Given the description of an element on the screen output the (x, y) to click on. 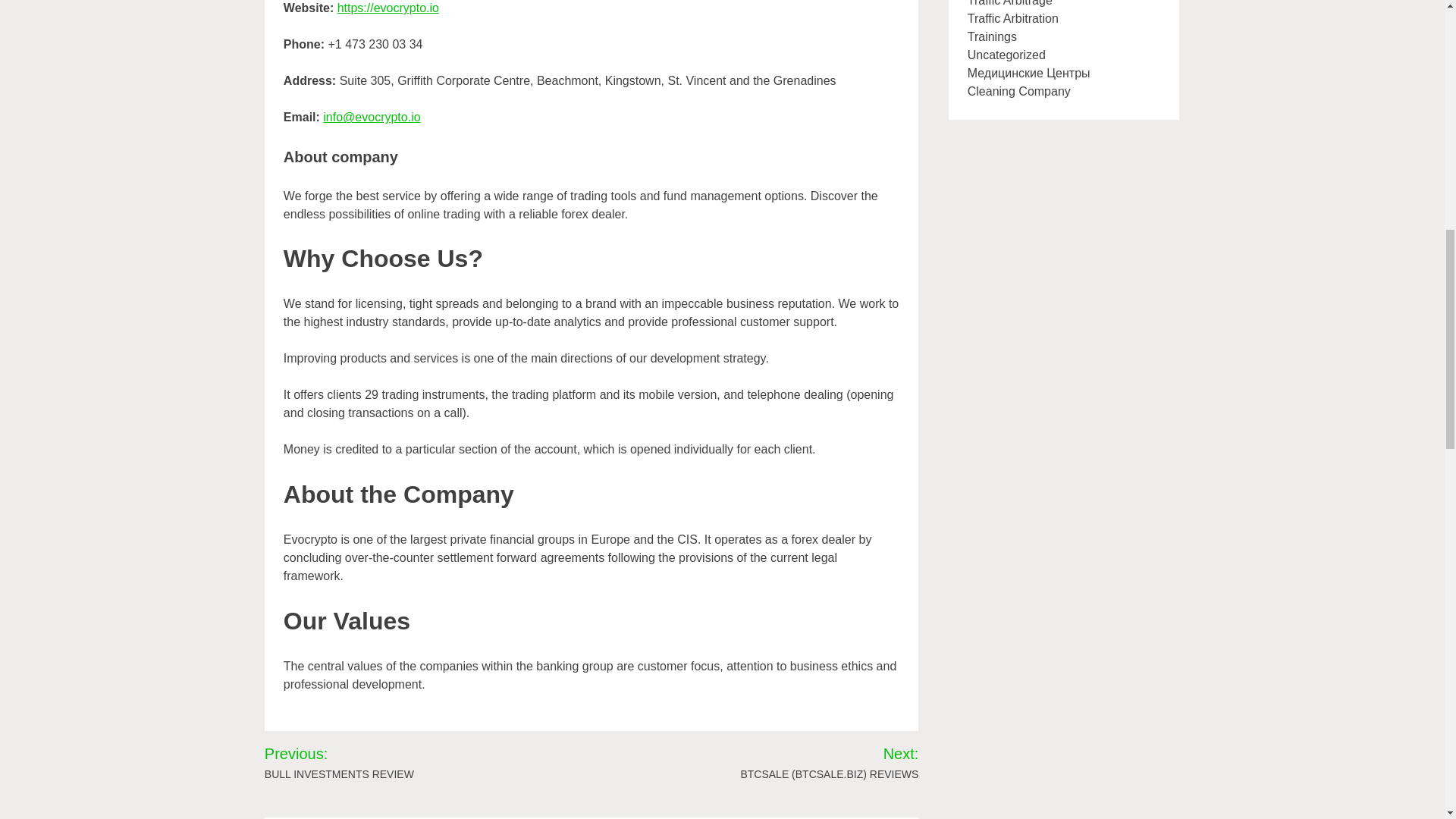
Previous: BULL INVESTMENTS REVIEW (372, 762)
